Given the description of an element on the screen output the (x, y) to click on. 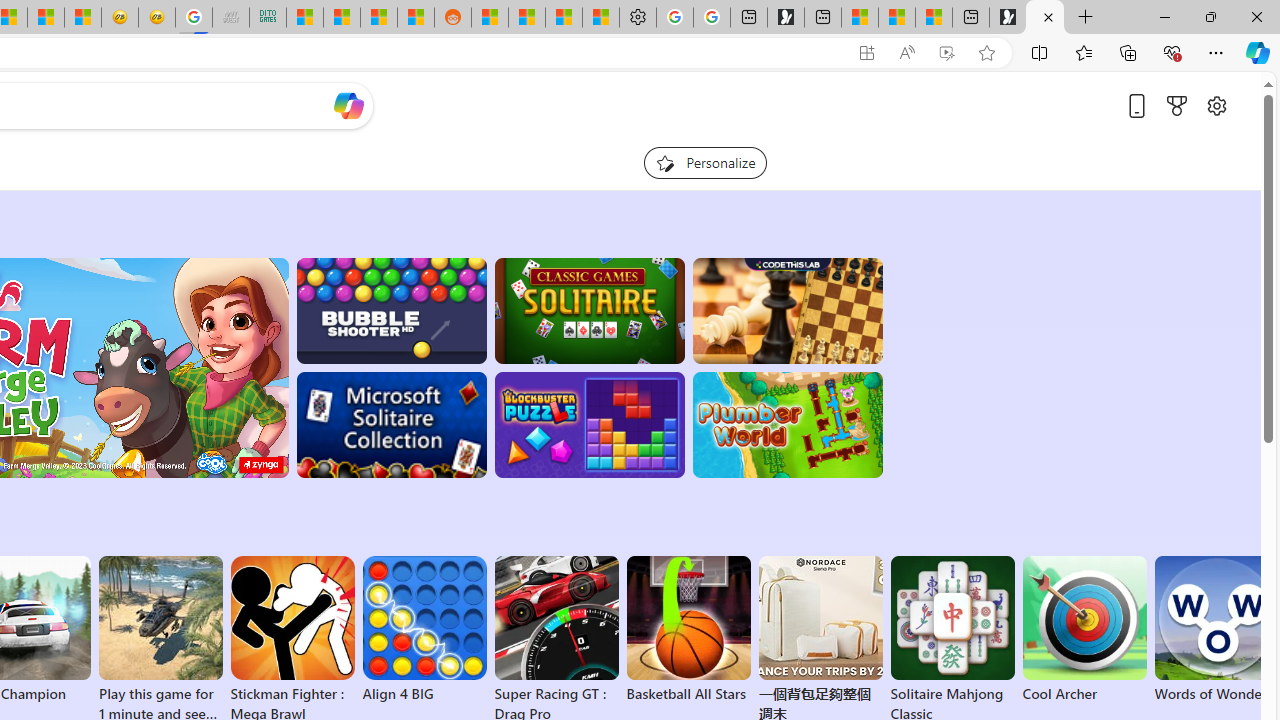
Master Chess (787, 310)
These 3 Stocks Pay You More Than 5% to Own Them (934, 17)
Bubble Shooter HD (390, 310)
Microsoft Solitaire Collection (390, 425)
Classic Solitaire (589, 310)
Plumber World (787, 425)
Align 4 BIG (424, 629)
